Given the description of an element on the screen output the (x, y) to click on. 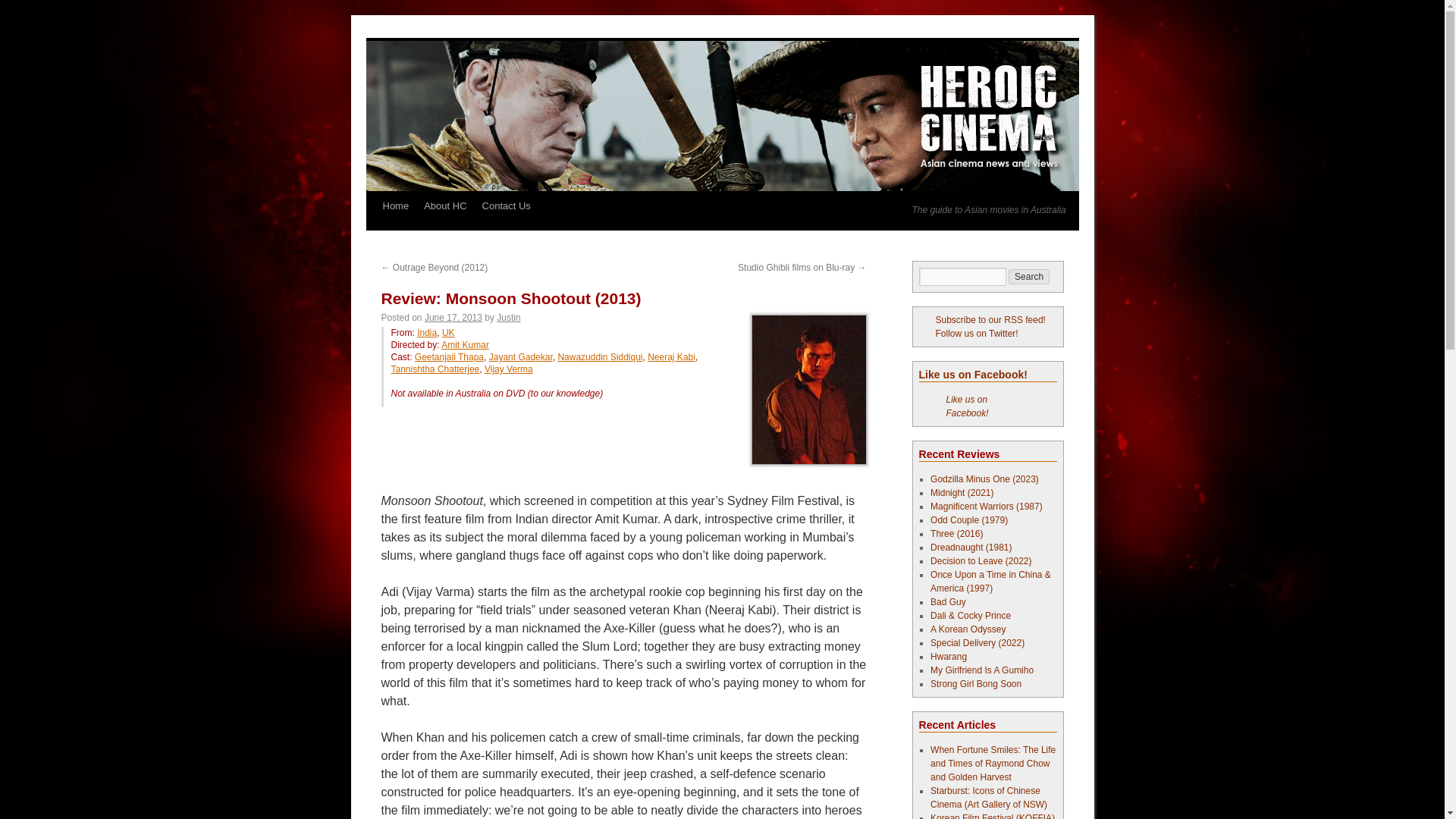
Nawazuddin Siddiqui (599, 357)
Home (395, 205)
Contact Us (506, 205)
UK (448, 332)
Like us on Facebook! (972, 374)
Geetanjali Thapa (448, 357)
9:16 pm (453, 317)
View all posts by Justin (507, 317)
About HC (445, 205)
Search (1029, 276)
Search (1029, 276)
Follow us on Twitter! (968, 333)
Like us on Facebook! (967, 405)
June 17, 2013 (453, 317)
Neeraj Kabi (671, 357)
